Given the description of an element on the screen output the (x, y) to click on. 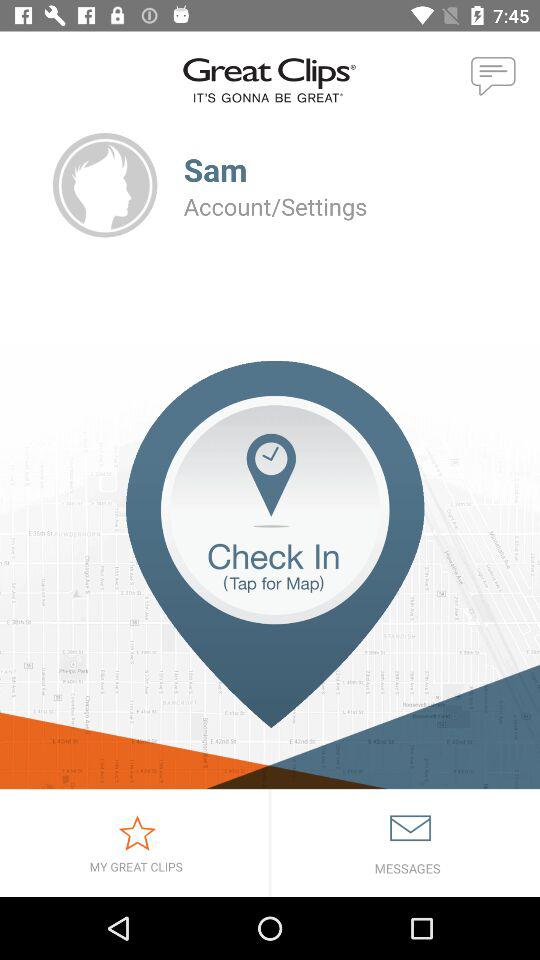
turn off icon at the bottom left corner (134, 842)
